Given the description of an element on the screen output the (x, y) to click on. 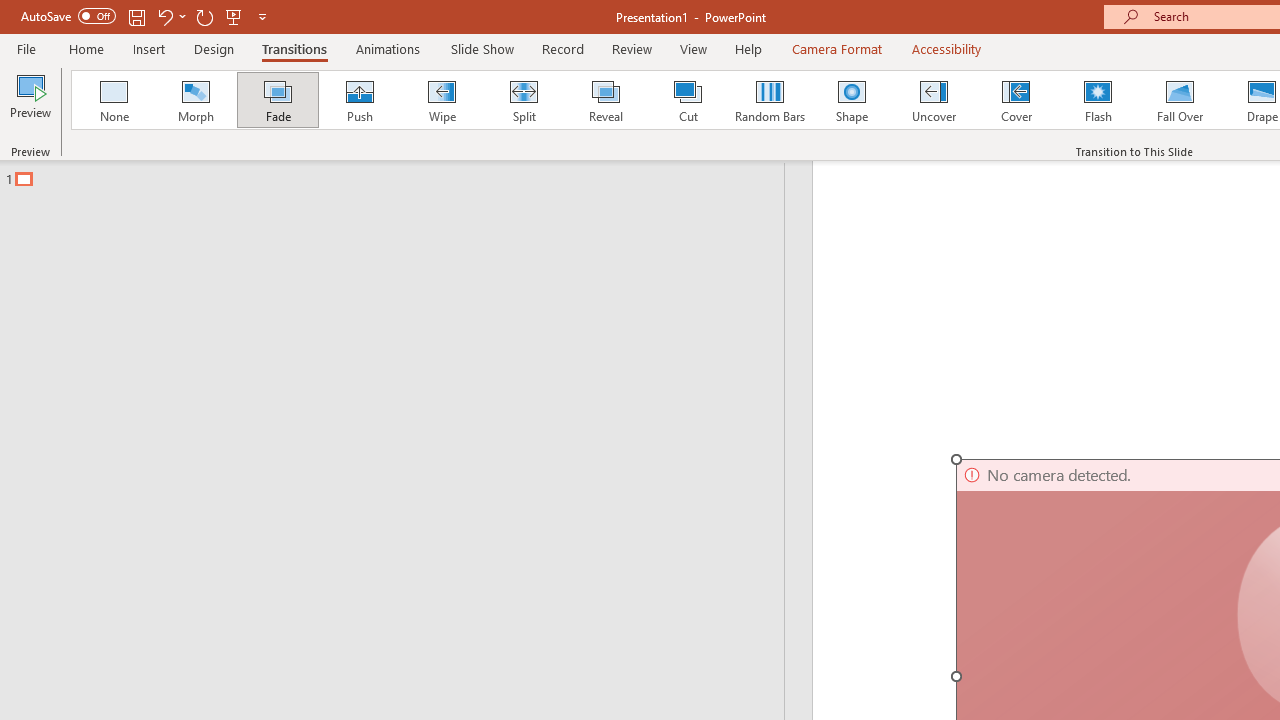
Uncover (934, 100)
None (113, 100)
Shape (852, 100)
Cut (687, 100)
